Given the description of an element on the screen output the (x, y) to click on. 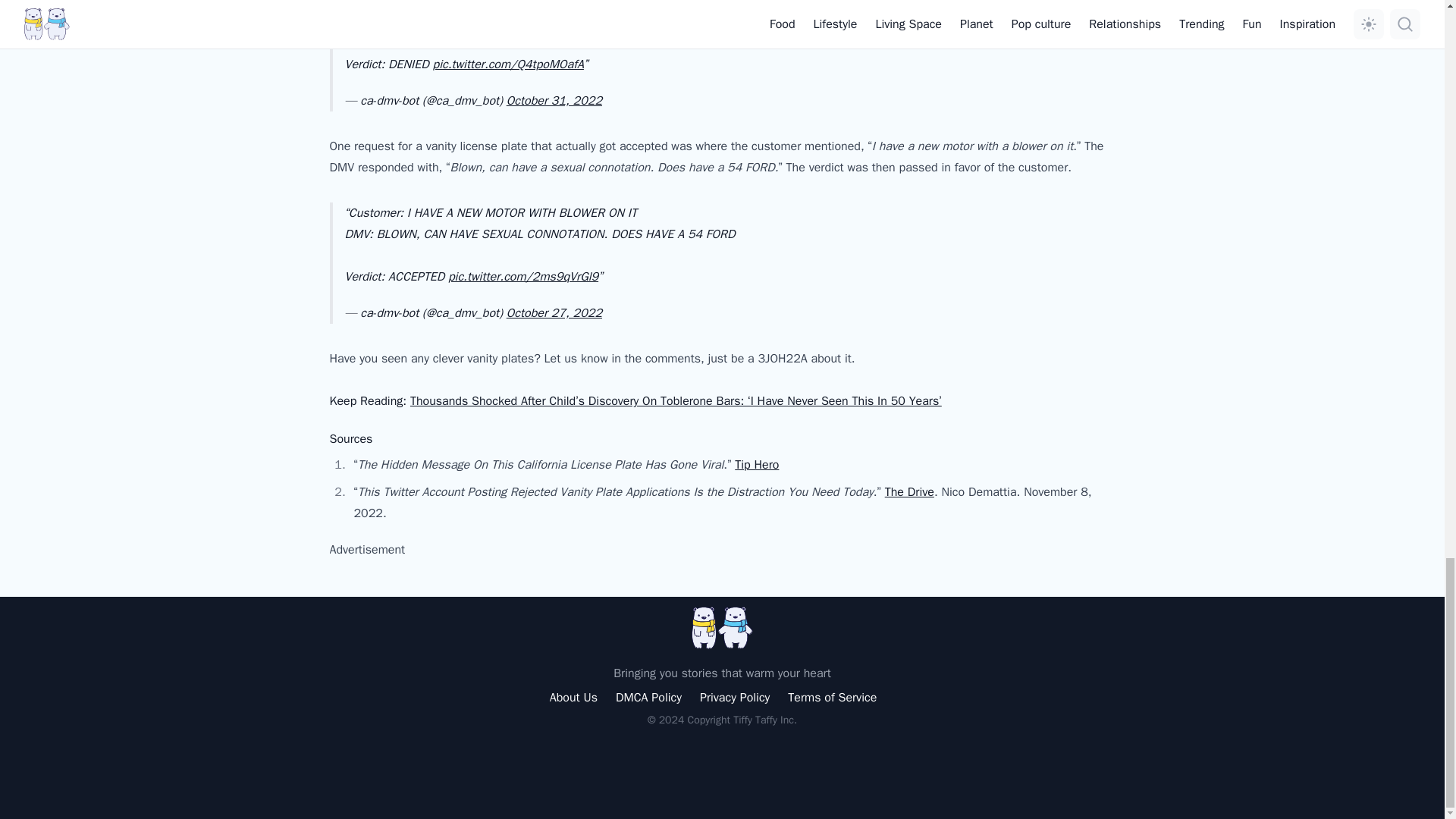
The Drive (909, 491)
Privacy Policy (735, 697)
October 27, 2022 (554, 313)
DMCA Policy (648, 697)
About Us (573, 697)
Tip Hero (756, 464)
Terms of Service (831, 697)
October 31, 2022 (554, 100)
